Given the description of an element on the screen output the (x, y) to click on. 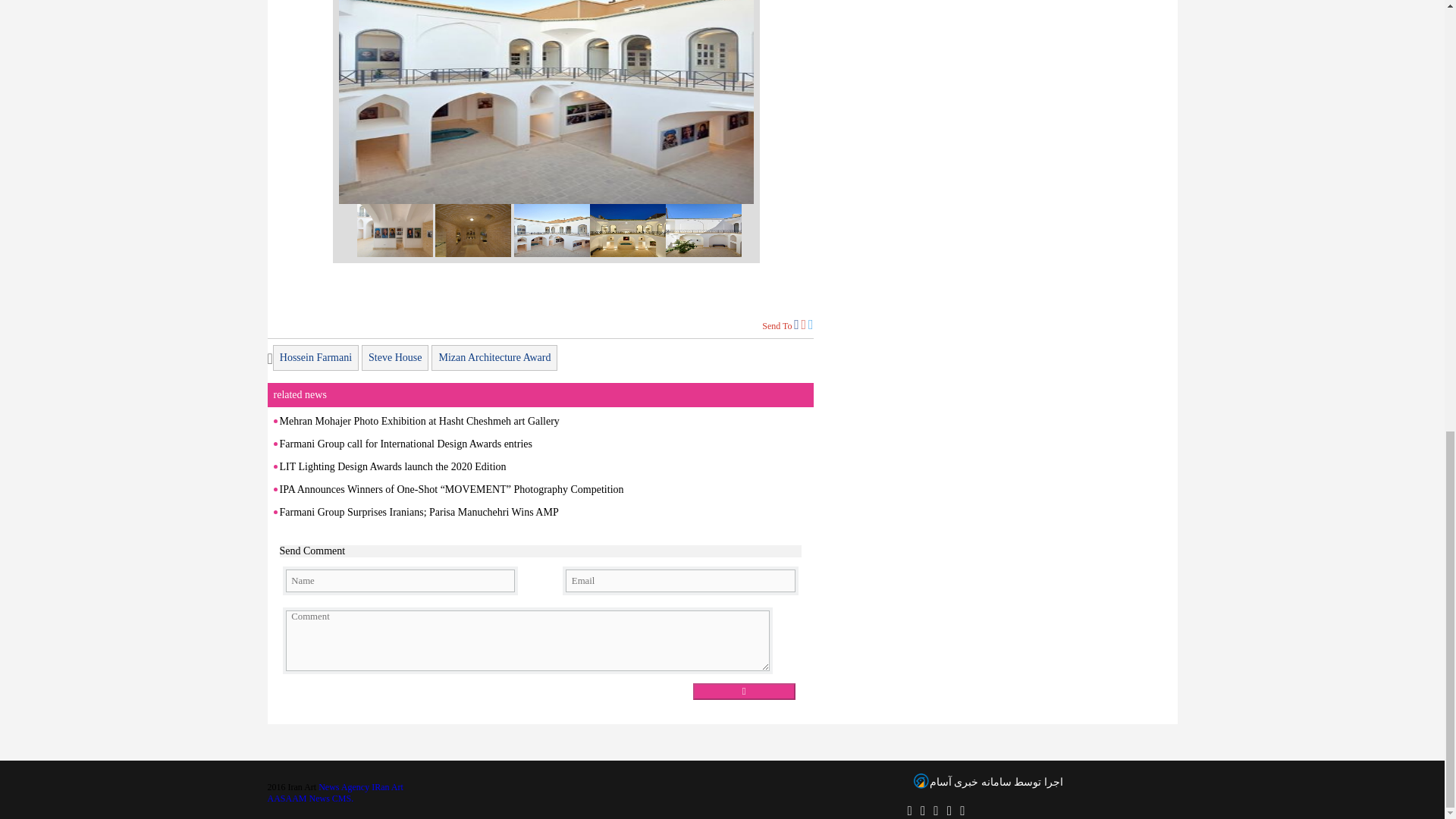
submit (743, 691)
Steve House (394, 357)
Hossein Farmani (315, 357)
Steve House (394, 357)
Mizan Architecture Award (493, 357)
Farmani Group Surprises Iranians; Parisa Manuchehri Wins AMP (418, 511)
Farmani Group call for International Design Awards entries (405, 443)
Hossein Farmani (315, 357)
Mizan Architecture Award (493, 357)
LIT Lighting Design Awards launch the 2020 Edition (392, 466)
Farmani Group Surprises Iranians; Parisa Manuchehri Wins AMP (418, 511)
LIT Lighting Design Awards launch the 2020 Edition (392, 466)
Farmani Group call for International Design Awards entries (405, 443)
